Given the description of an element on the screen output the (x, y) to click on. 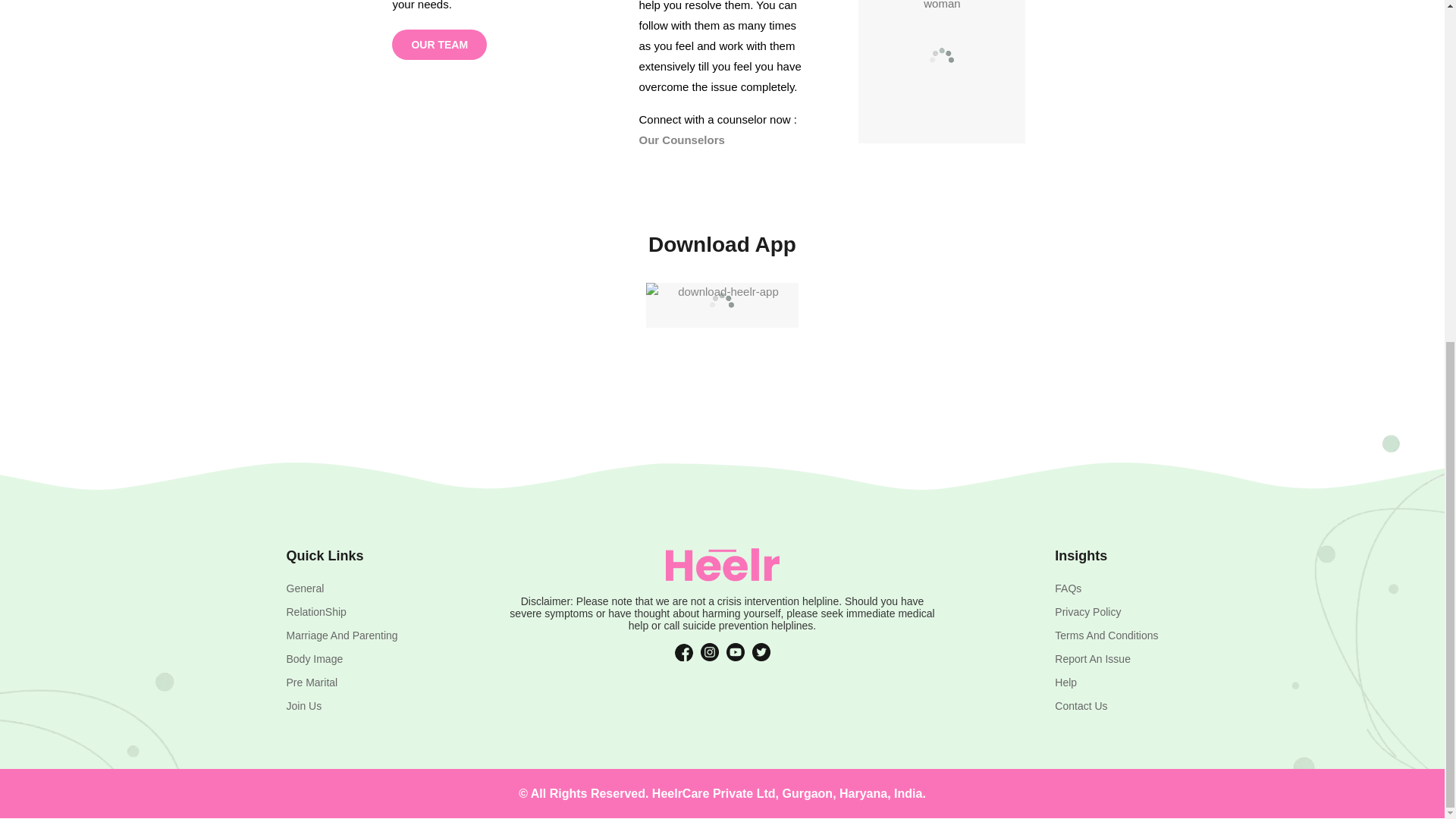
Help (1065, 682)
Marriage And Parenting (341, 635)
Privacy Policy (1087, 612)
RelationShip (316, 612)
Report An Issue (1092, 658)
FAQs (1067, 588)
Pre Marital (311, 682)
Body Image (314, 658)
Terms And Conditions (1105, 635)
Join Us (303, 705)
